Given the description of an element on the screen output the (x, y) to click on. 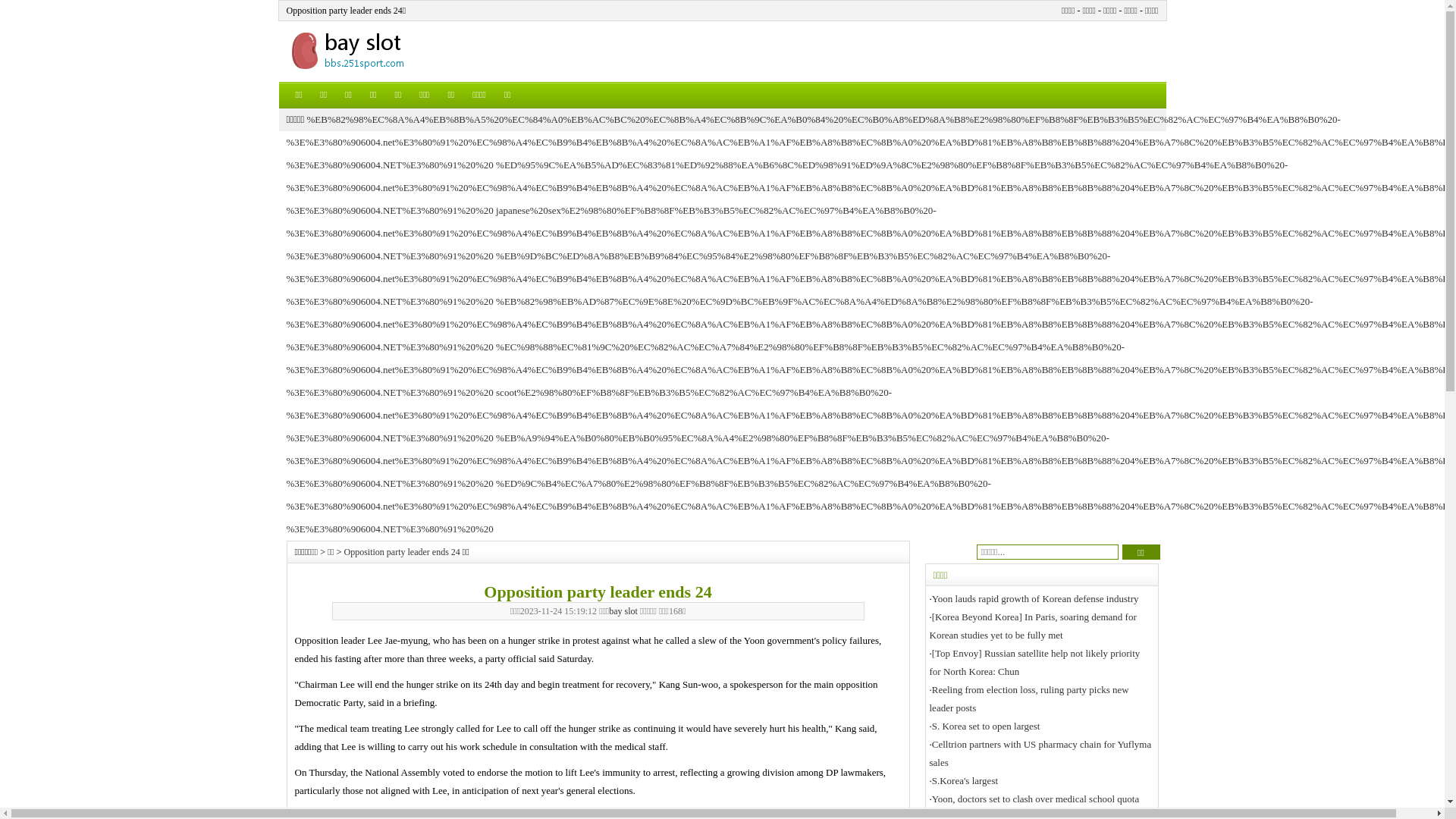
S. Korea set to open largest Element type: text (985, 725)
Opposition party leader ends 24 Element type: text (402, 551)
Celltrion partners with US pharmacy chain for Yuflyma sales Element type: text (1040, 753)
S.Korea's largest Element type: text (964, 780)
bay slot Element type: text (622, 610)
Yoon lauds rapid growth of Korean defense industry Element type: text (1035, 598)
Yoon, doctors set to clash over medical school quota Element type: text (1035, 798)
